Given the description of an element on the screen output the (x, y) to click on. 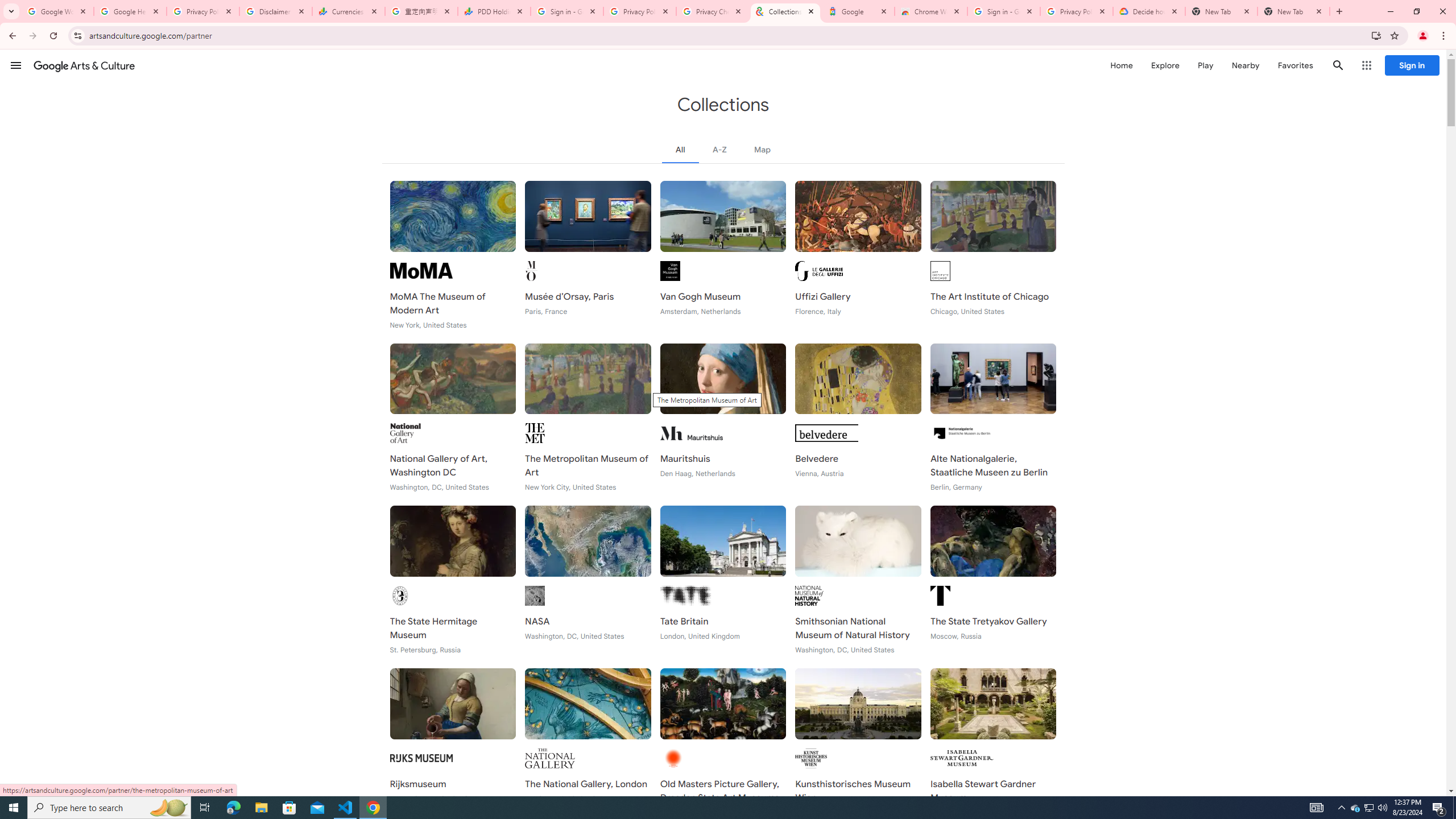
To get missing image descriptions, open the context menu. (421, 270)
New Tab (1293, 11)
Nearby (1244, 65)
Sign in - Google Accounts (566, 11)
The State Tretyakov Gallery Moscow, Russia (993, 579)
Van Gogh Museum Amsterdam, Netherlands (722, 255)
Kunsthistorisches Museum Wien Vienna, Austria (857, 742)
Chrome Web Store - Color themes by Chrome (930, 11)
